Given the description of an element on the screen output the (x, y) to click on. 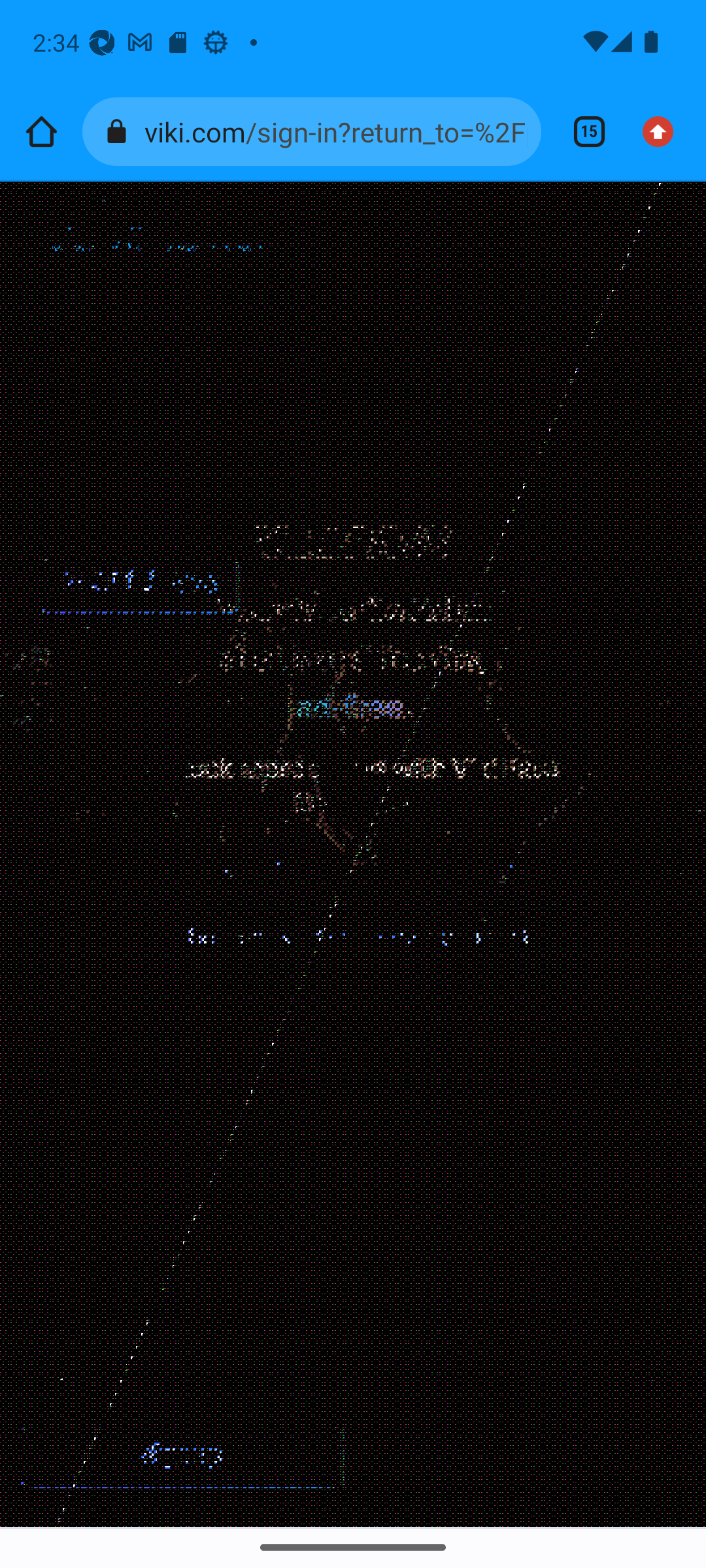
Home (41, 131)
Connection is secure (120, 131)
Switch or close tabs (582, 131)
Update available. More options (664, 131)
viki.com/sign-in?return_to=%2Fpass%23plans (335, 131)
